Given the description of an element on the screen output the (x, y) to click on. 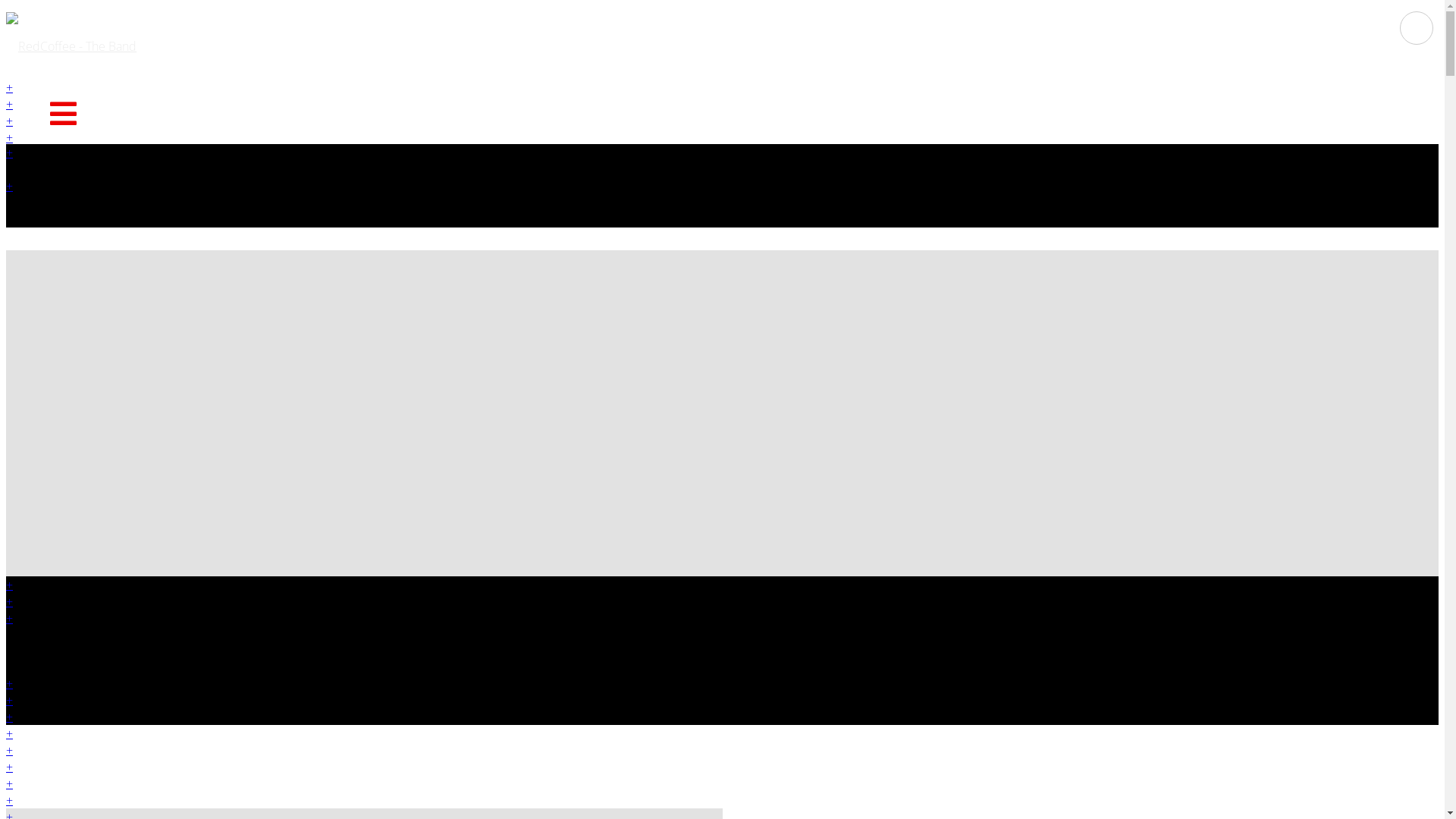
+ Element type: text (9, 617)
+ Element type: text (9, 136)
+ Element type: text (9, 185)
+ Element type: text (9, 783)
+ Element type: text (9, 601)
+ Element type: text (9, 86)
+ Element type: text (9, 699)
+ Element type: text (9, 749)
+ Element type: text (9, 716)
HELIX_CLOSE_MENU Element type: hover (1415, 26)
+ Element type: text (9, 682)
+ Element type: text (9, 152)
Menu Element type: hover (62, 113)
+ Element type: text (9, 799)
+ Element type: text (9, 103)
+ Element type: text (9, 732)
+ Element type: text (9, 120)
+ Element type: text (9, 584)
+ Element type: text (9, 766)
